Given the description of an element on the screen output the (x, y) to click on. 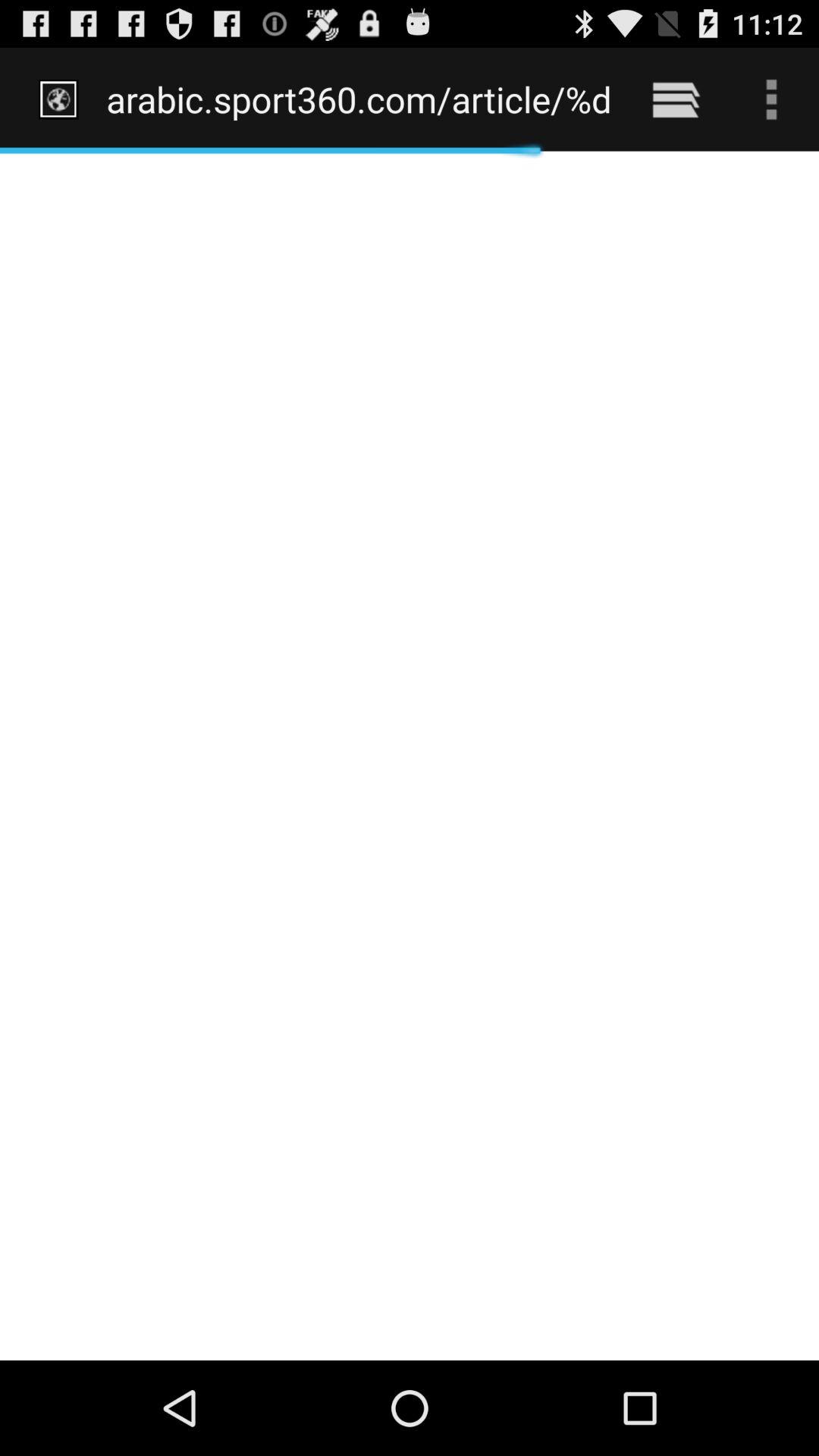
choose the icon to the right of the arabic sport360 com (675, 99)
